Given the description of an element on the screen output the (x, y) to click on. 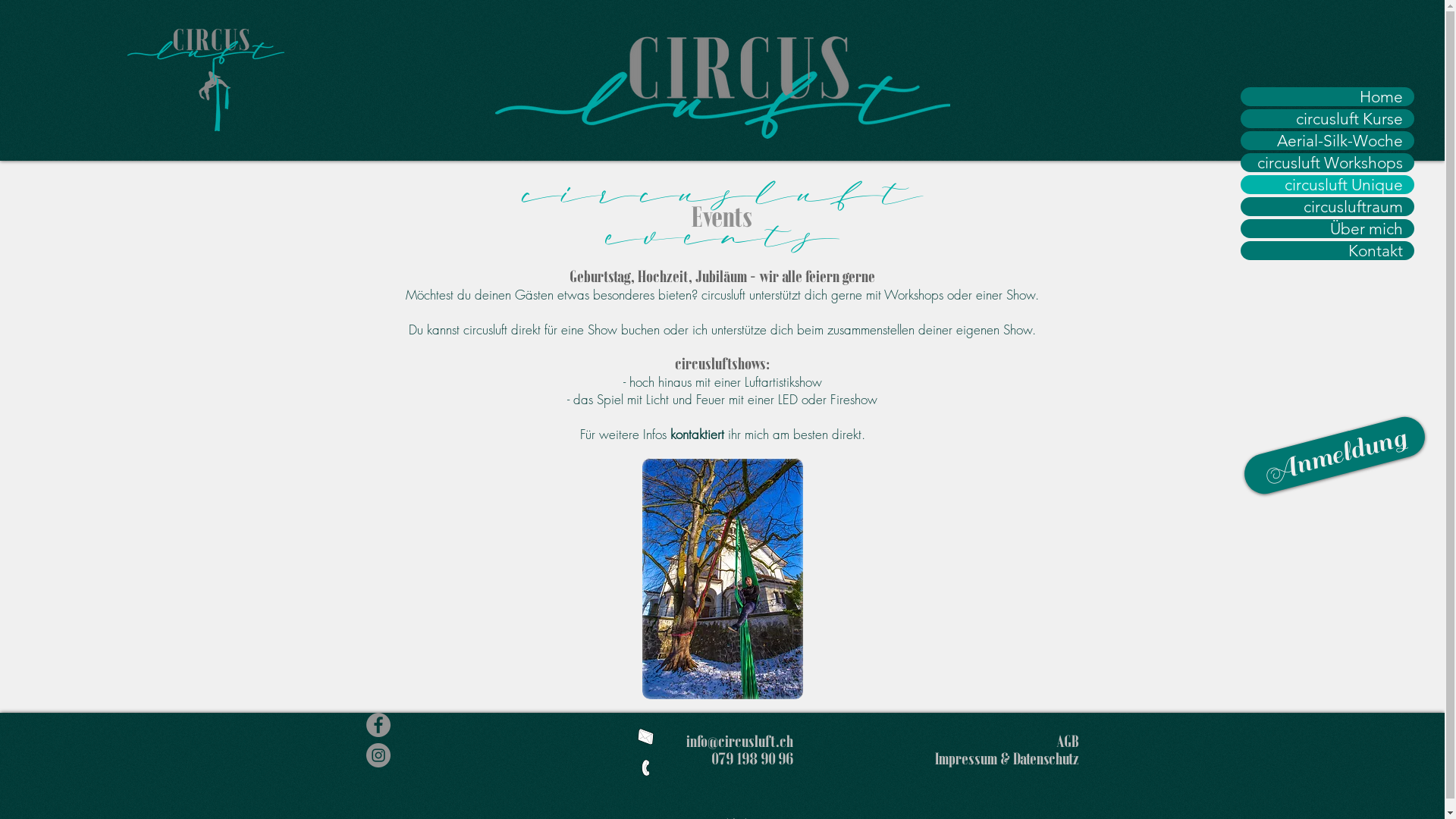
Home Element type: text (1327, 96)
 info@circusluft.ch Element type: text (737, 741)
Anmeldung Element type: text (1332, 431)
circusluft Workshops Element type: text (1327, 162)
circusluft Kurse Element type: text (1327, 118)
AGB Element type: text (1066, 741)
Impressum & Datenschutz Element type: text (1006, 759)
kontaktiert Element type: text (697, 433)
silk.JPG Element type: hover (721, 578)
Aerial-Silk-Woche Element type: text (1327, 140)
circusluftraum Element type: text (1327, 206)
circusluft Unique Element type: text (1327, 184)
Kontakt Element type: text (1327, 250)
